Given the description of an element on the screen output the (x, y) to click on. 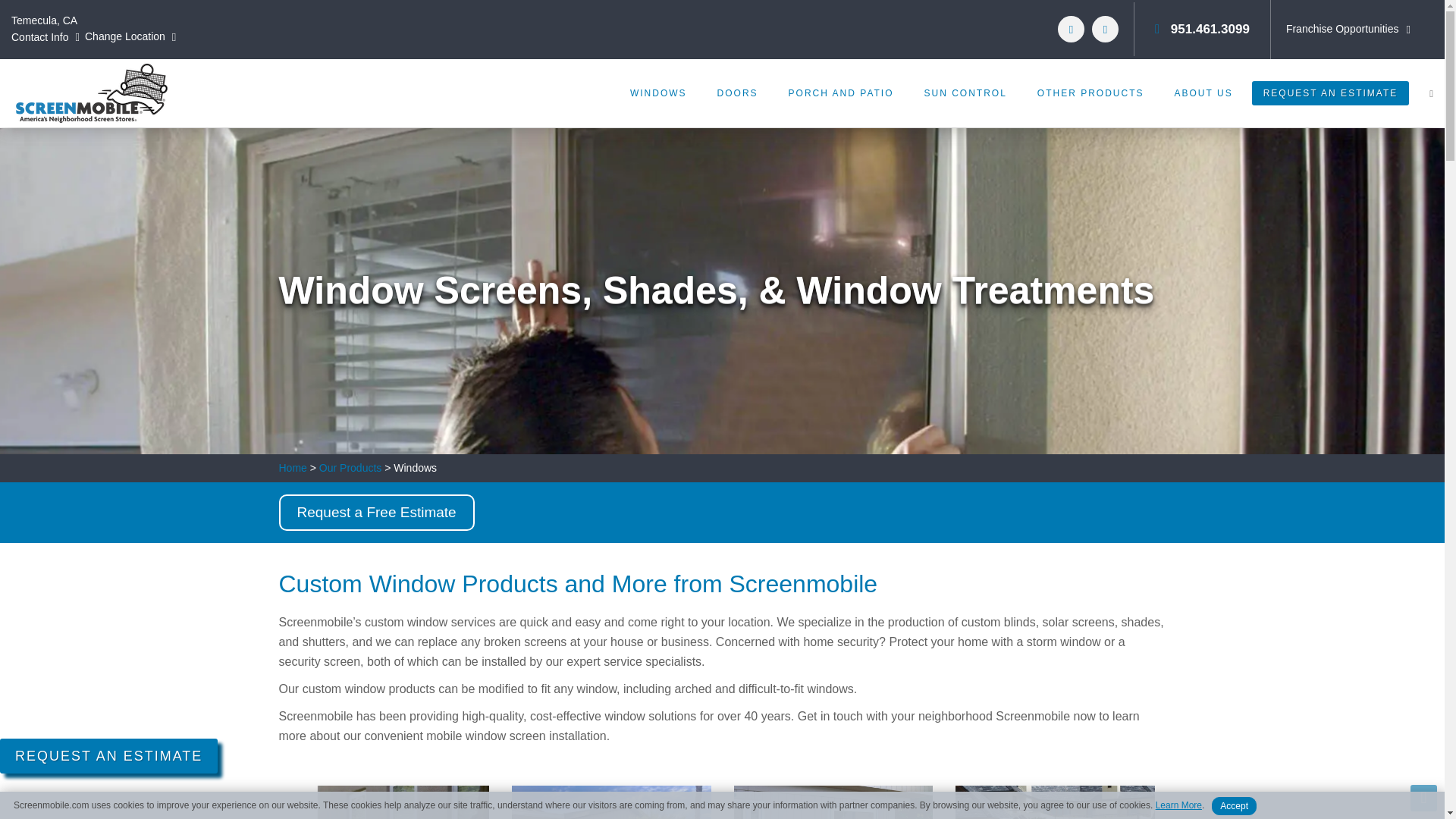
Privacy Policy (1179, 805)
Go to Our Products. (349, 467)
PORCH AND PATIO (840, 92)
Franchise Opportunities (1349, 28)
DOORS (737, 92)
Contact Info (46, 37)
Go to Temecula. (293, 467)
WINDOWS (657, 92)
Accept (1233, 805)
951.461.3099 (1201, 29)
SUN CONTROL (965, 92)
